Given the description of an element on the screen output the (x, y) to click on. 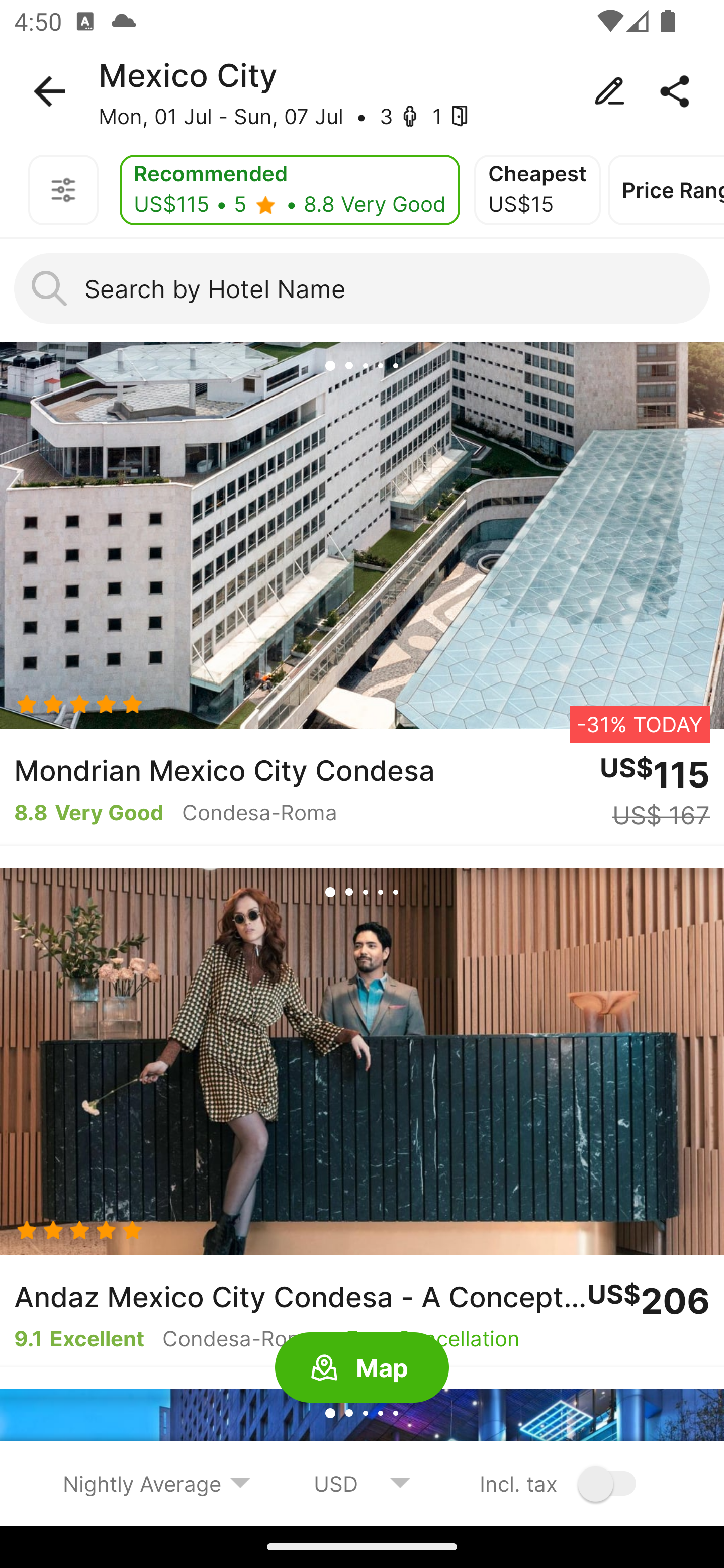
Mexico City Mon, 01 Jul - Sun, 07 Jul  •  3 -  1 - (361, 91)
Recommended  US$115  • 5 - • 8.8 Very Good (289, 190)
Cheapest US$15 (537, 190)
Price Range (666, 190)
Search by Hotel Name  (361, 288)
Map  (361, 1367)
Nightly Average (156, 1482)
USD (361, 1482)
